Given the description of an element on the screen output the (x, y) to click on. 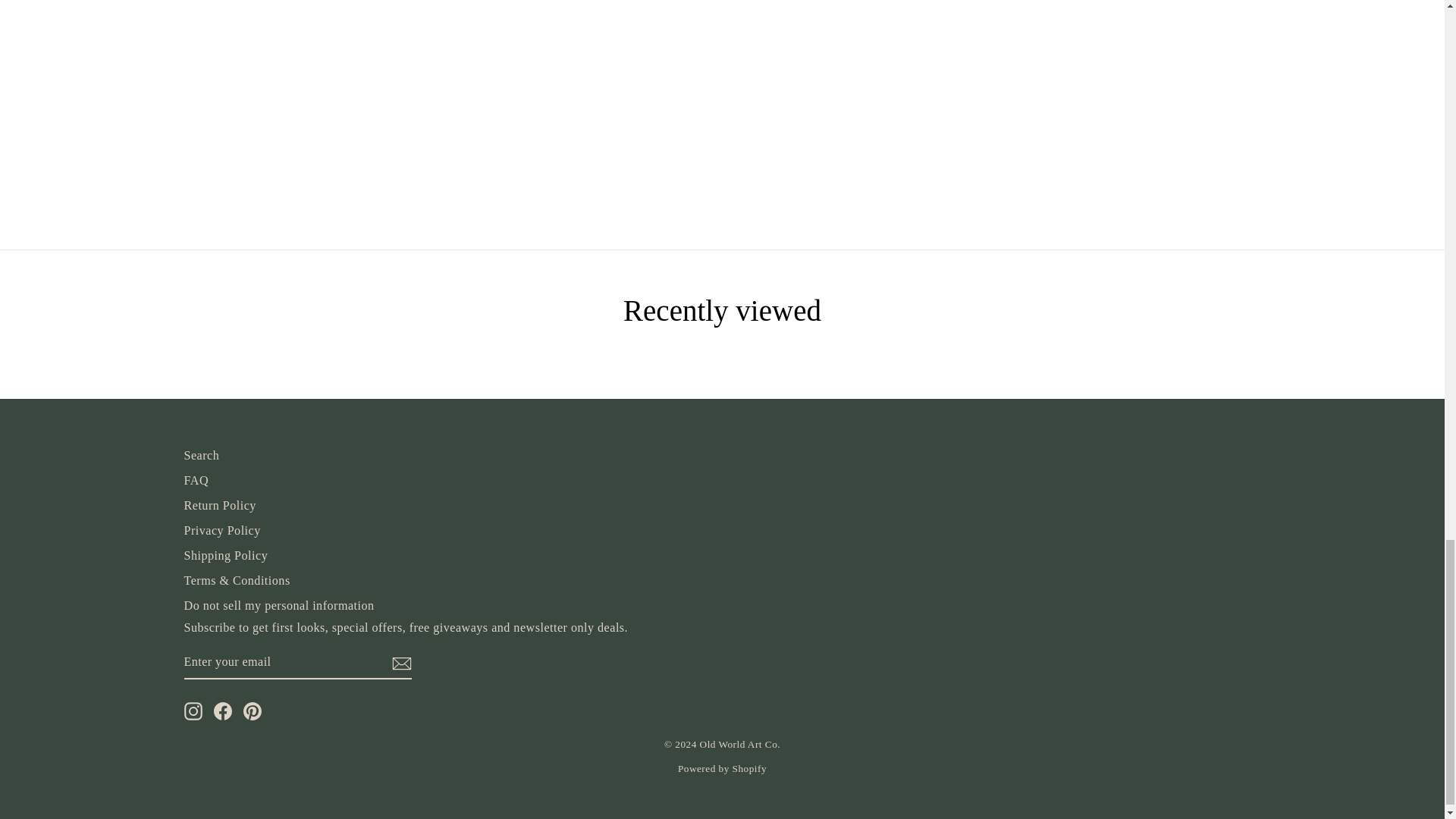
Old World Art Co. on Facebook (222, 710)
icon-email (400, 663)
instagram (192, 710)
Old World Art Co. on Pinterest (251, 710)
Old World Art Co. on Instagram (192, 710)
